Given the description of an element on the screen output the (x, y) to click on. 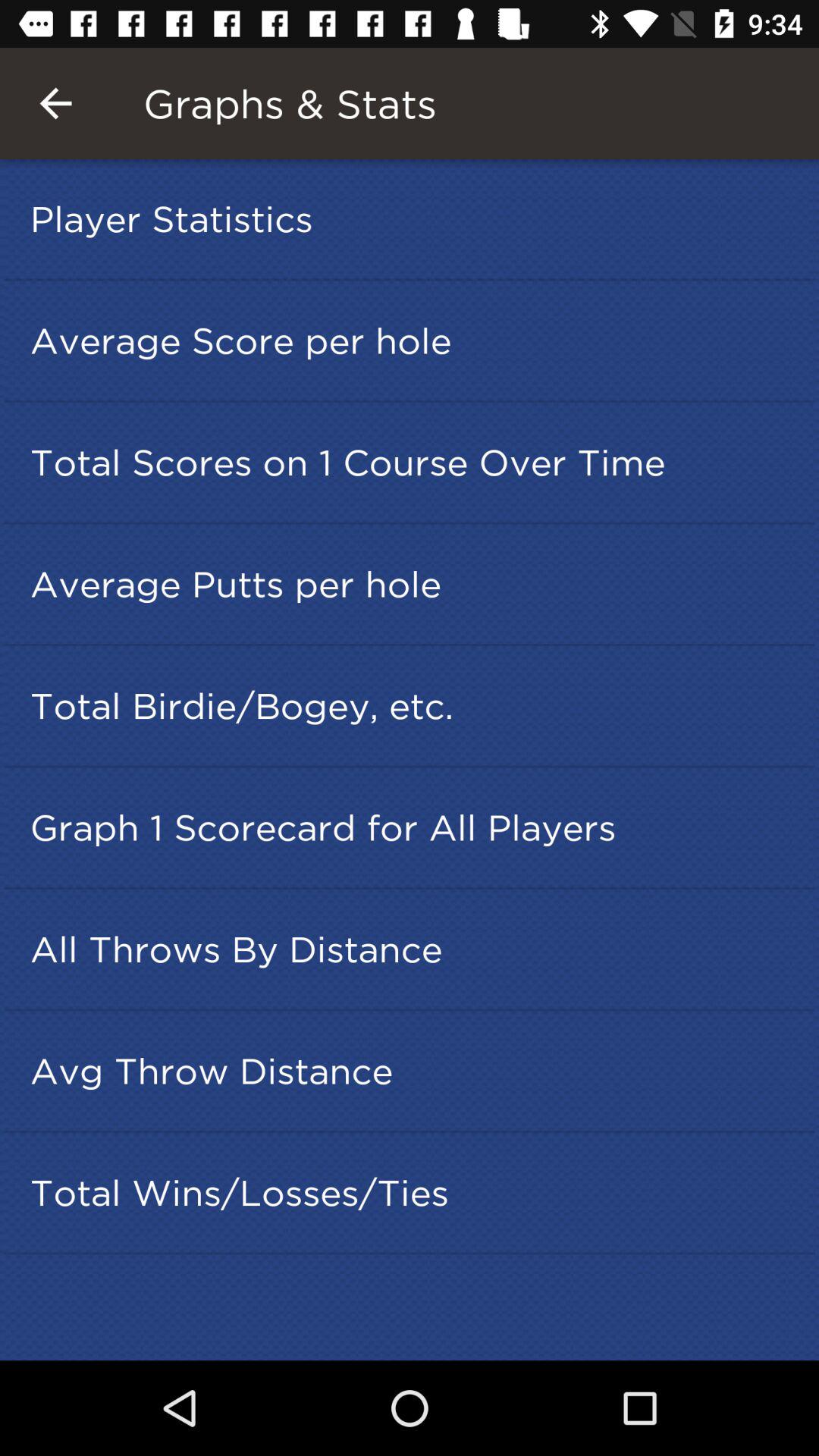
click icon at the top left corner (55, 103)
